Given the description of an element on the screen output the (x, y) to click on. 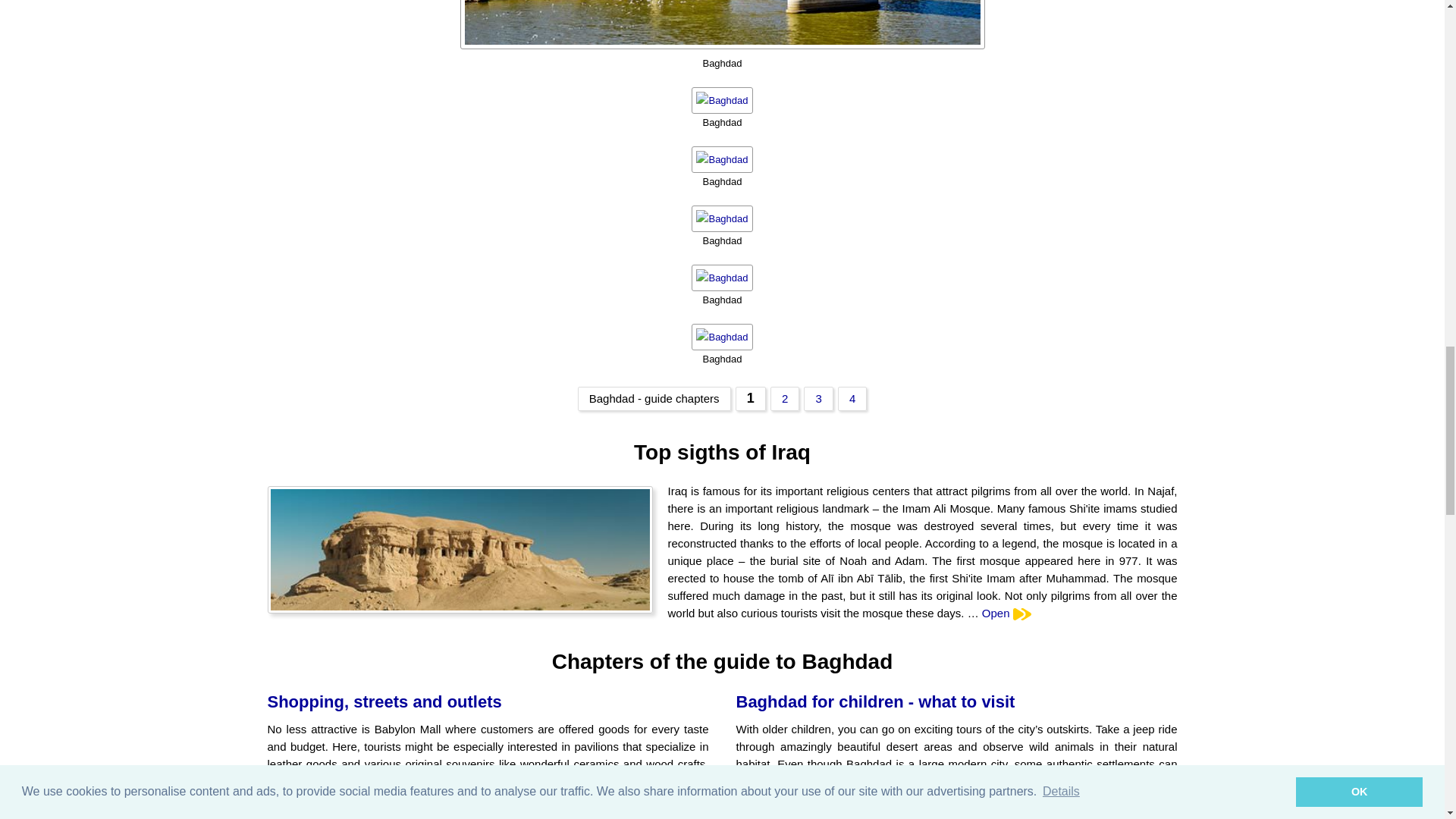
Cultural sights: must-visit places (817, 398)
Baghdad (721, 99)
Baghdad (721, 217)
Family holidays - what to visit with your child (784, 398)
Baghdad (721, 335)
Shopping - main streets, malls boutiques and outlets (852, 398)
Baghdad (722, 24)
Baghdad (721, 276)
Baghdad (721, 158)
Top sights, monuments and attractions (750, 398)
